Given the description of an element on the screen output the (x, y) to click on. 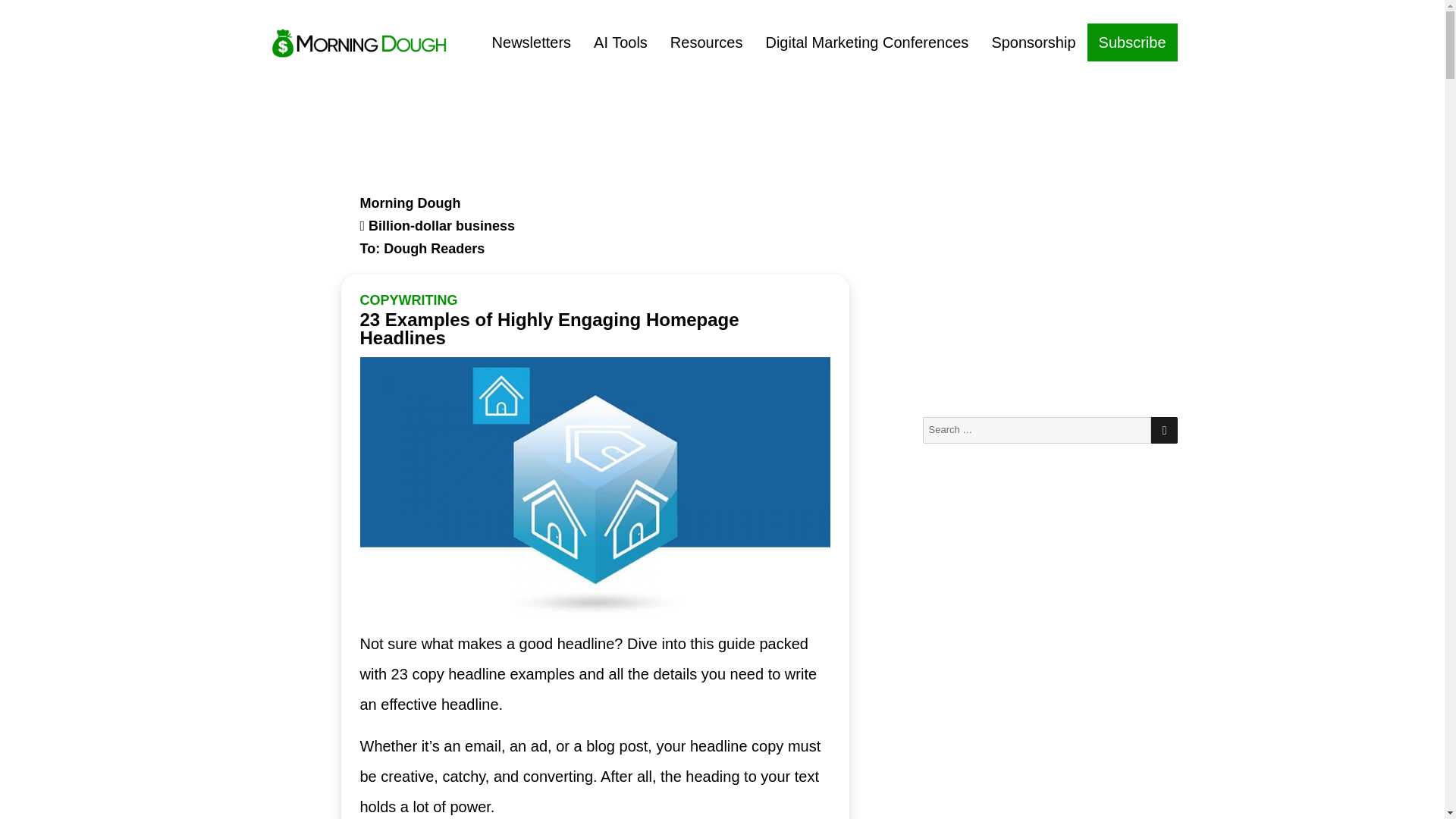
Subscribe (1132, 42)
Resources (706, 42)
Sponsorship (1032, 42)
AI Tools (620, 42)
Digital Marketing Conferences (866, 42)
Newsletters (531, 42)
